Given the description of an element on the screen output the (x, y) to click on. 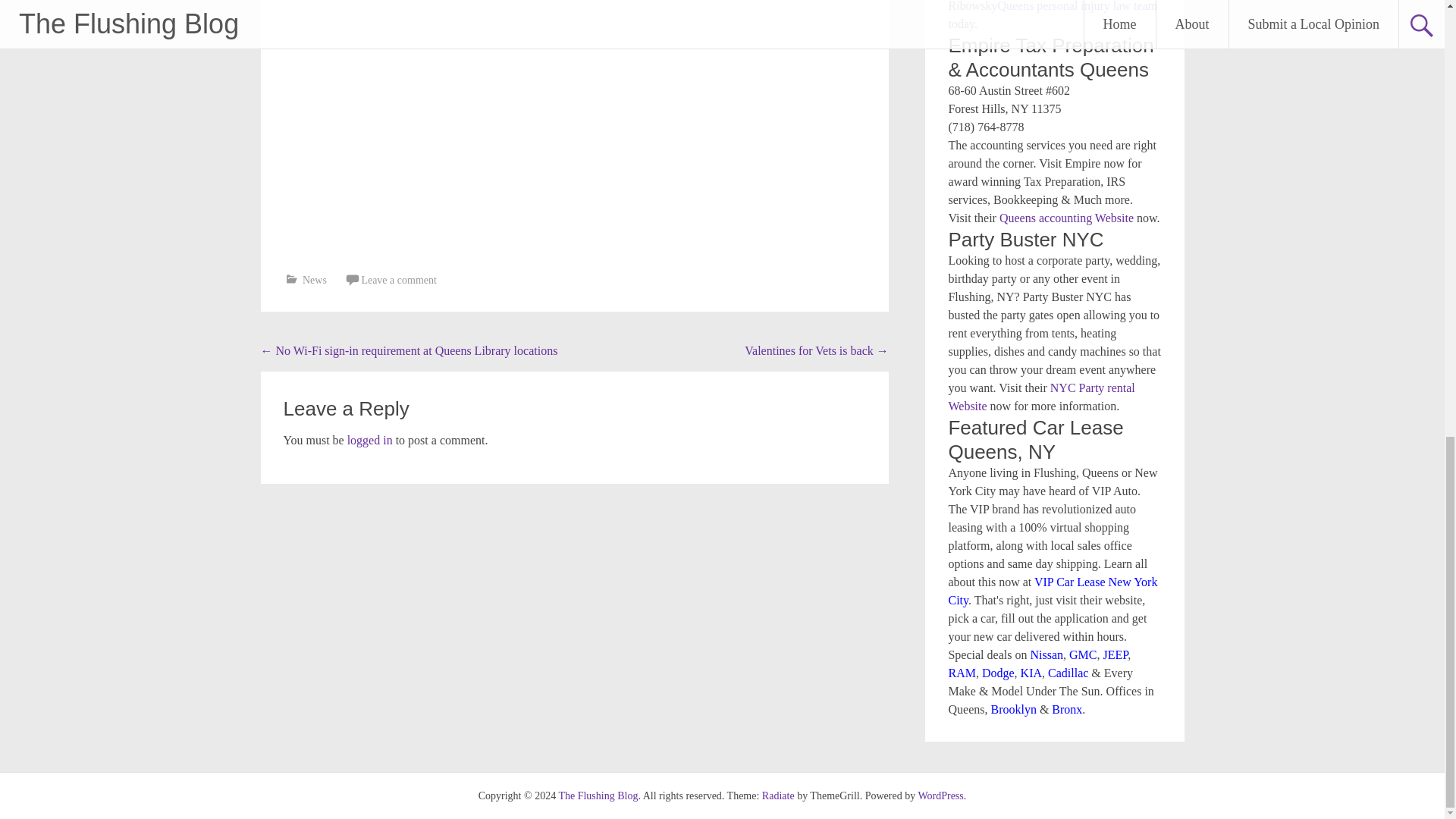
RAM (961, 672)
Dodge (997, 672)
The Flushing Blog (597, 795)
NYC Party rental Website (1040, 396)
Queens accounting Website (1066, 217)
The Flushing Blog (597, 795)
WordPress (939, 795)
JEEP (1114, 654)
VIP Car Lease New York City (1052, 590)
Bronx (1066, 708)
